Given the description of an element on the screen output the (x, y) to click on. 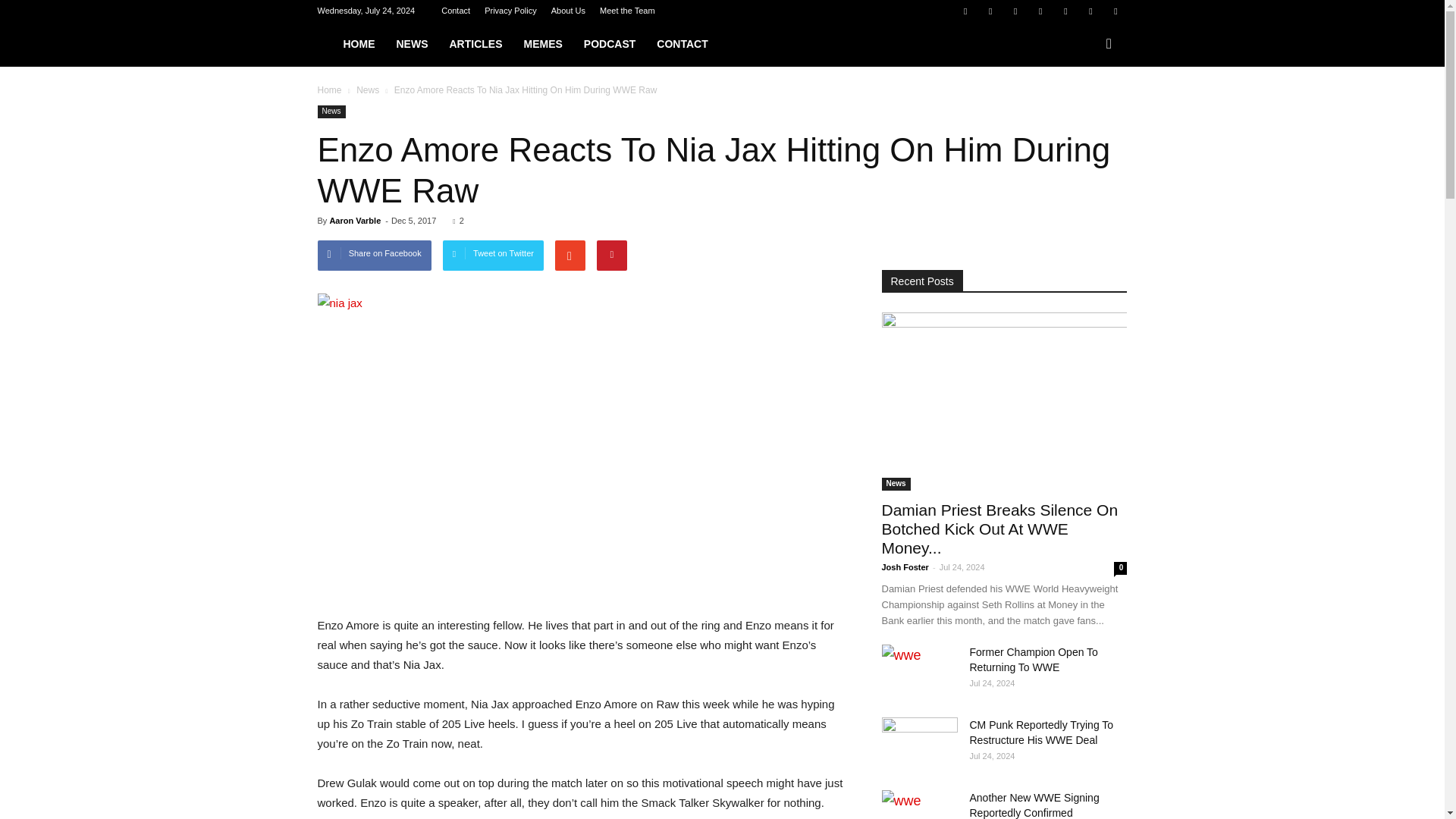
Contact (455, 10)
Facebook (964, 10)
Privacy Policy (509, 10)
Twitter (1090, 10)
PODCAST (609, 43)
ARTICLES (475, 43)
About Us (568, 10)
Meet the Team (627, 10)
HOME (358, 43)
Soundcloud (1065, 10)
NEWS (411, 43)
MEMES (542, 43)
Pinterest (1040, 10)
CONTACT (681, 43)
Instagram (1015, 10)
